Given the description of an element on the screen output the (x, y) to click on. 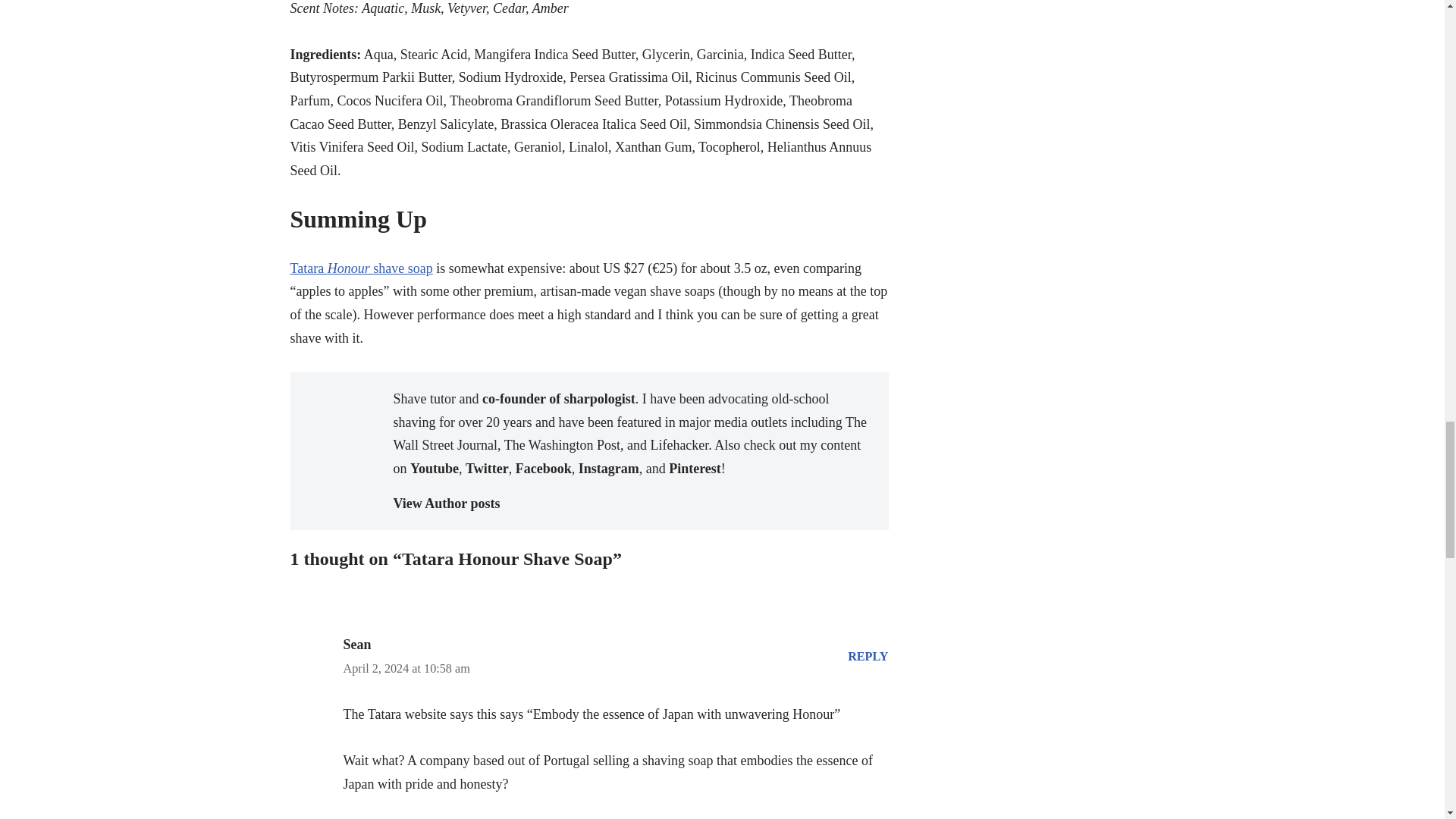
Facebook (543, 468)
April 2, 2024 at 10:58 am (405, 668)
Pinterest (694, 468)
REPLY (867, 656)
View Author posts (632, 503)
Instagram (608, 468)
Twitter (486, 468)
Youtube (434, 468)
Tatara Honour shave soap (360, 268)
co-founder of sharpologist (557, 398)
